Given the description of an element on the screen output the (x, y) to click on. 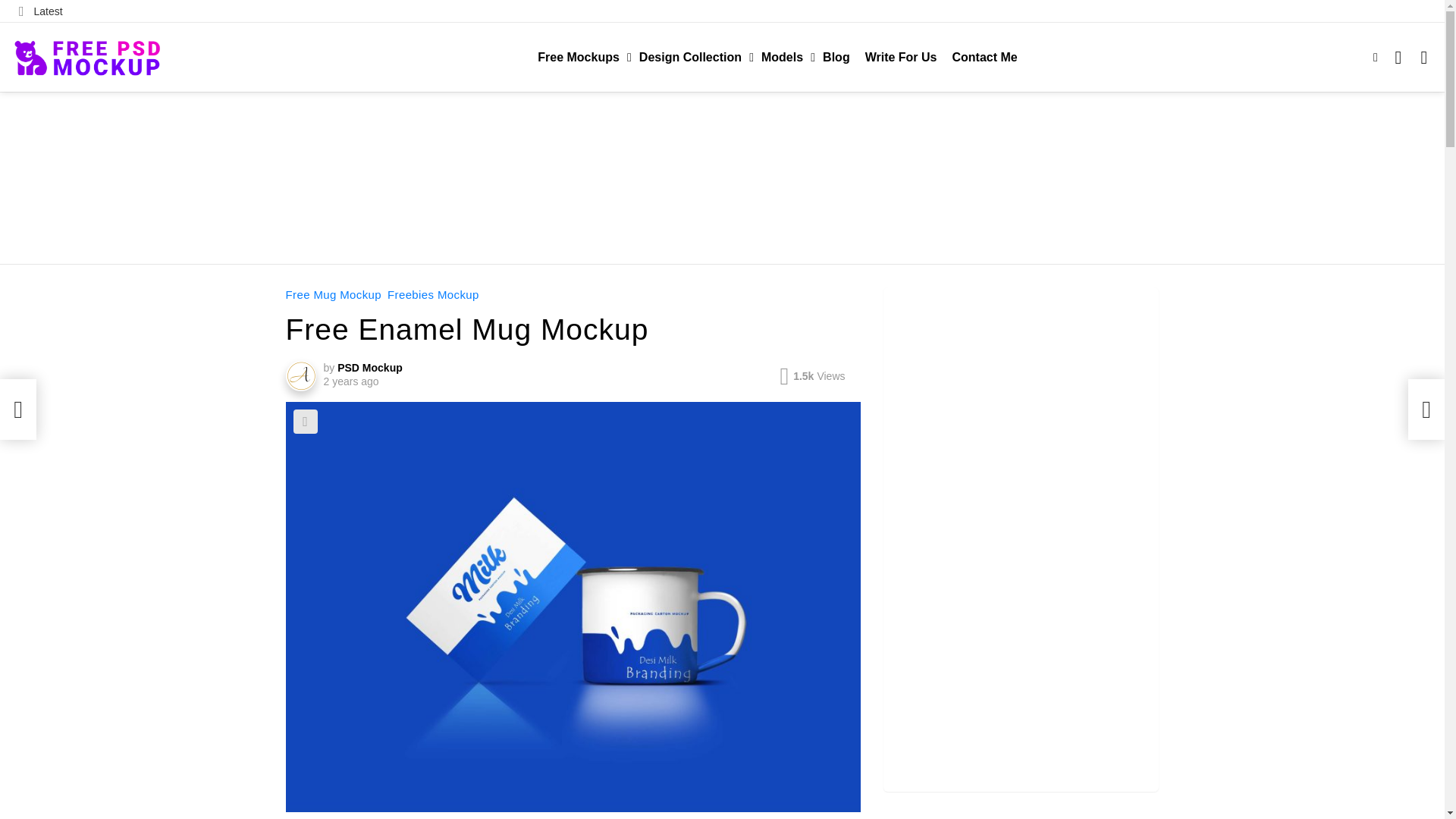
Free Mockups (580, 56)
Design Collection (692, 56)
Posts by PSD Mockup (370, 367)
Advertisement (721, 175)
Latest (40, 10)
April 29, 2022, 9:20 am (350, 381)
